Given the description of an element on the screen output the (x, y) to click on. 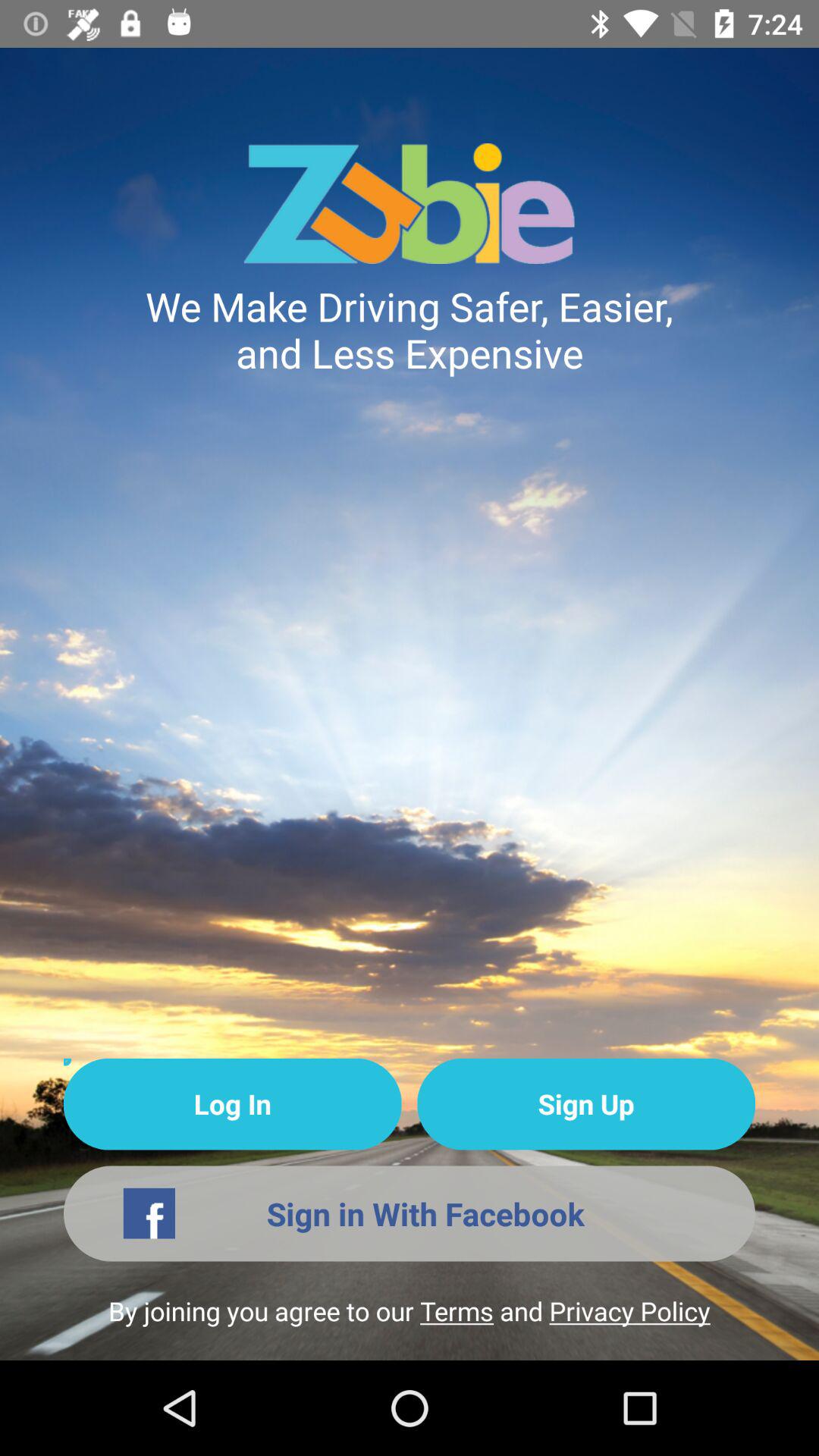
jump to the log in (232, 1104)
